Given the description of an element on the screen output the (x, y) to click on. 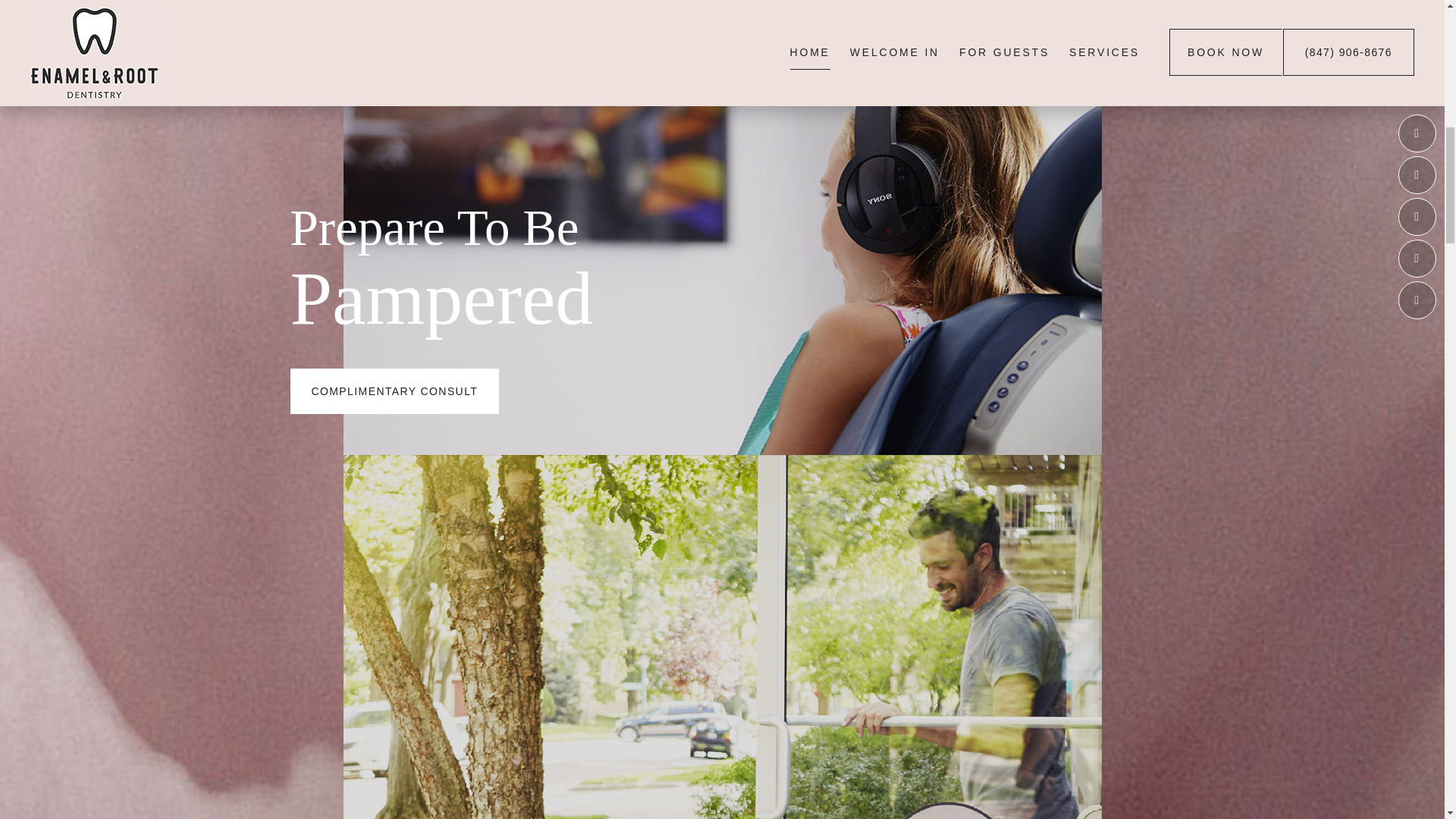
COMPLIMENTARY CONSULT (394, 391)
